Given the description of an element on the screen output the (x, y) to click on. 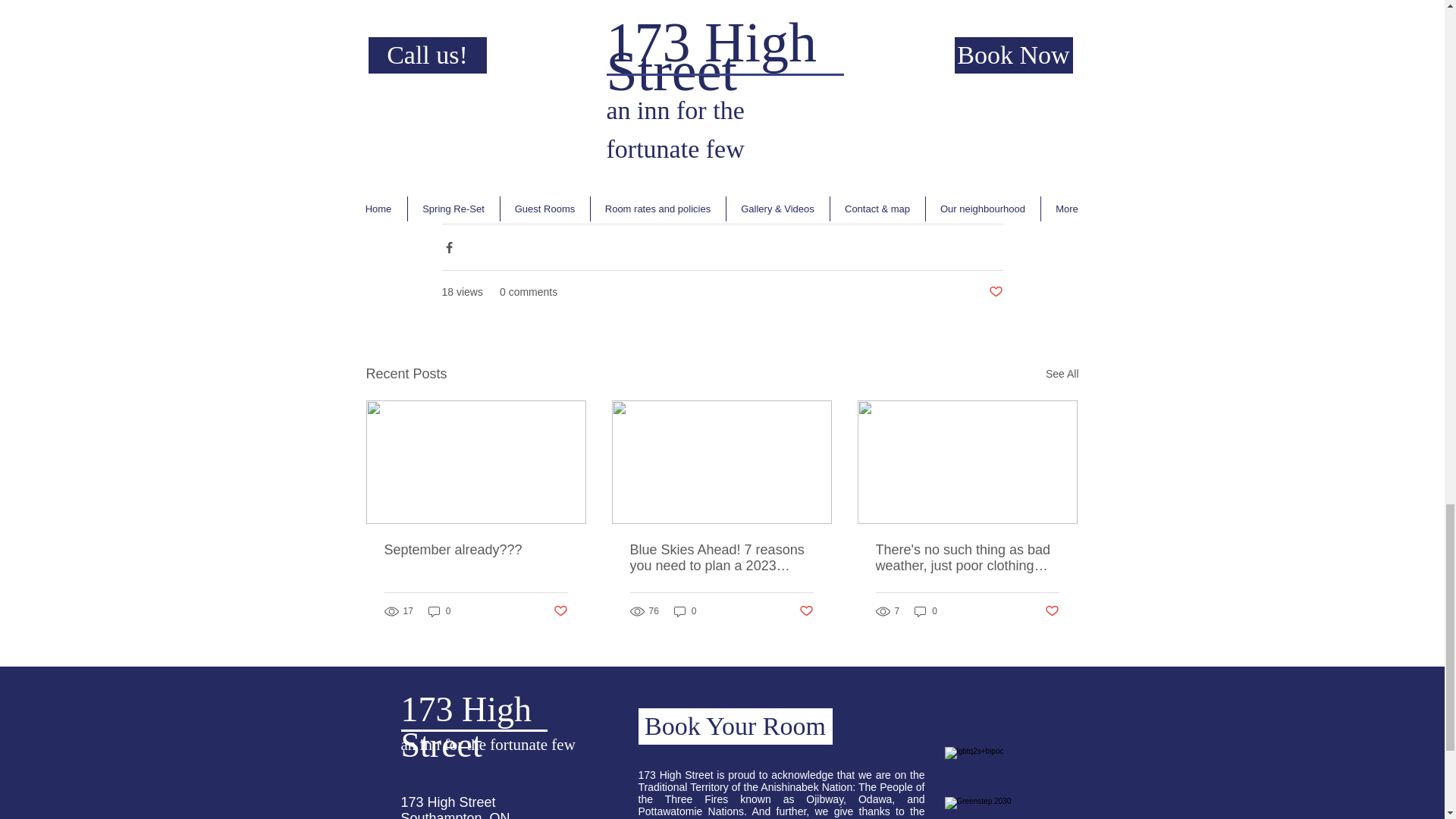
0 (439, 611)
September already??? (475, 549)
Post not marked as liked (995, 292)
Post not marked as liked (560, 611)
See All (1061, 373)
